Given the description of an element on the screen output the (x, y) to click on. 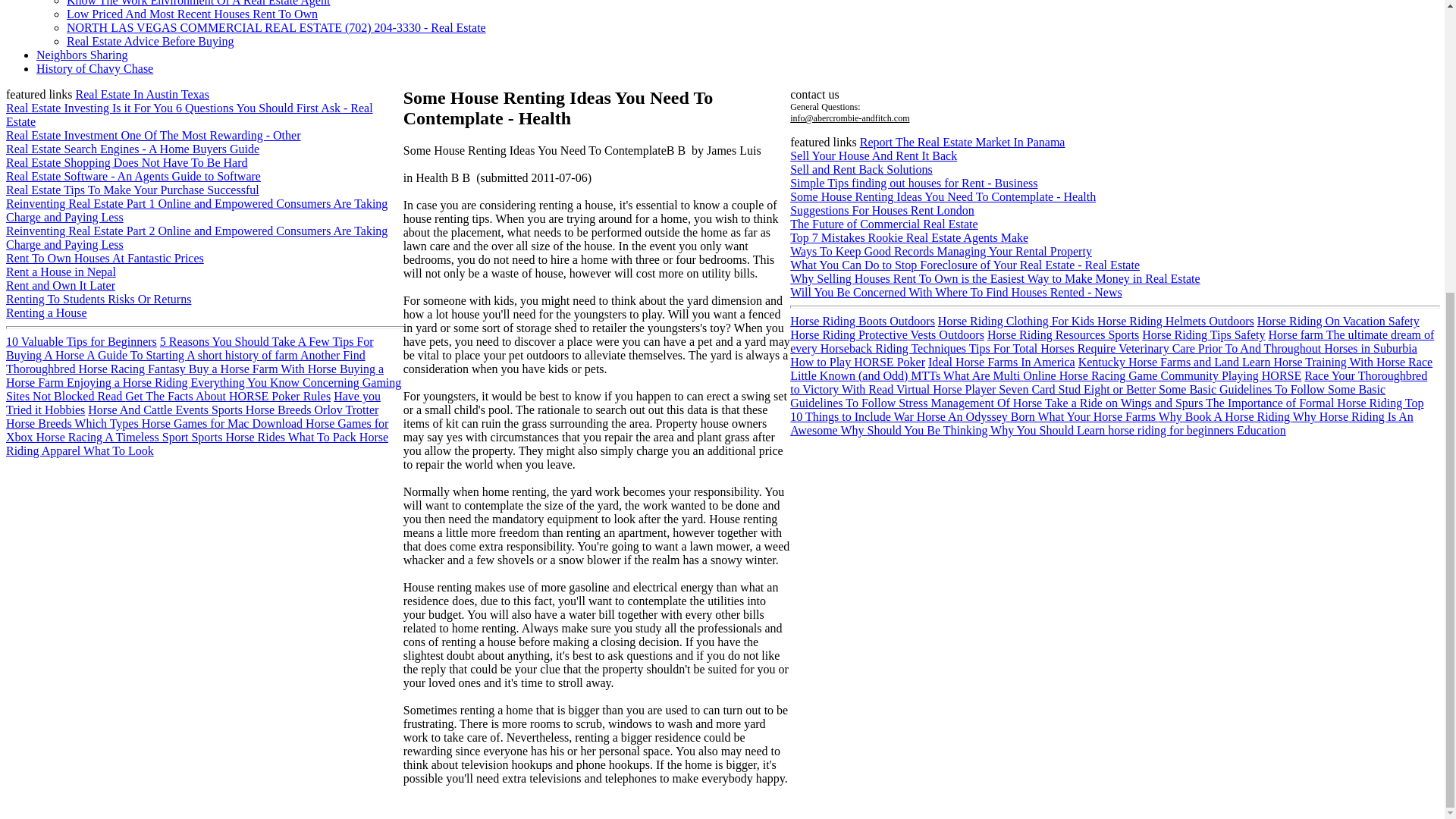
History of Chavy Chase (94, 68)
Real Estate Investment One Of The Most Rewarding - Other (153, 134)
Real Estate In Austin Texas (142, 93)
Real Estate Advice Before Buying (149, 41)
Know The Work Environment Of A Real Estate Agent (198, 3)
Neighbors Sharing (82, 54)
Low Priced And Most Recent Houses Rent To Own (191, 13)
